Given the description of an element on the screen output the (x, y) to click on. 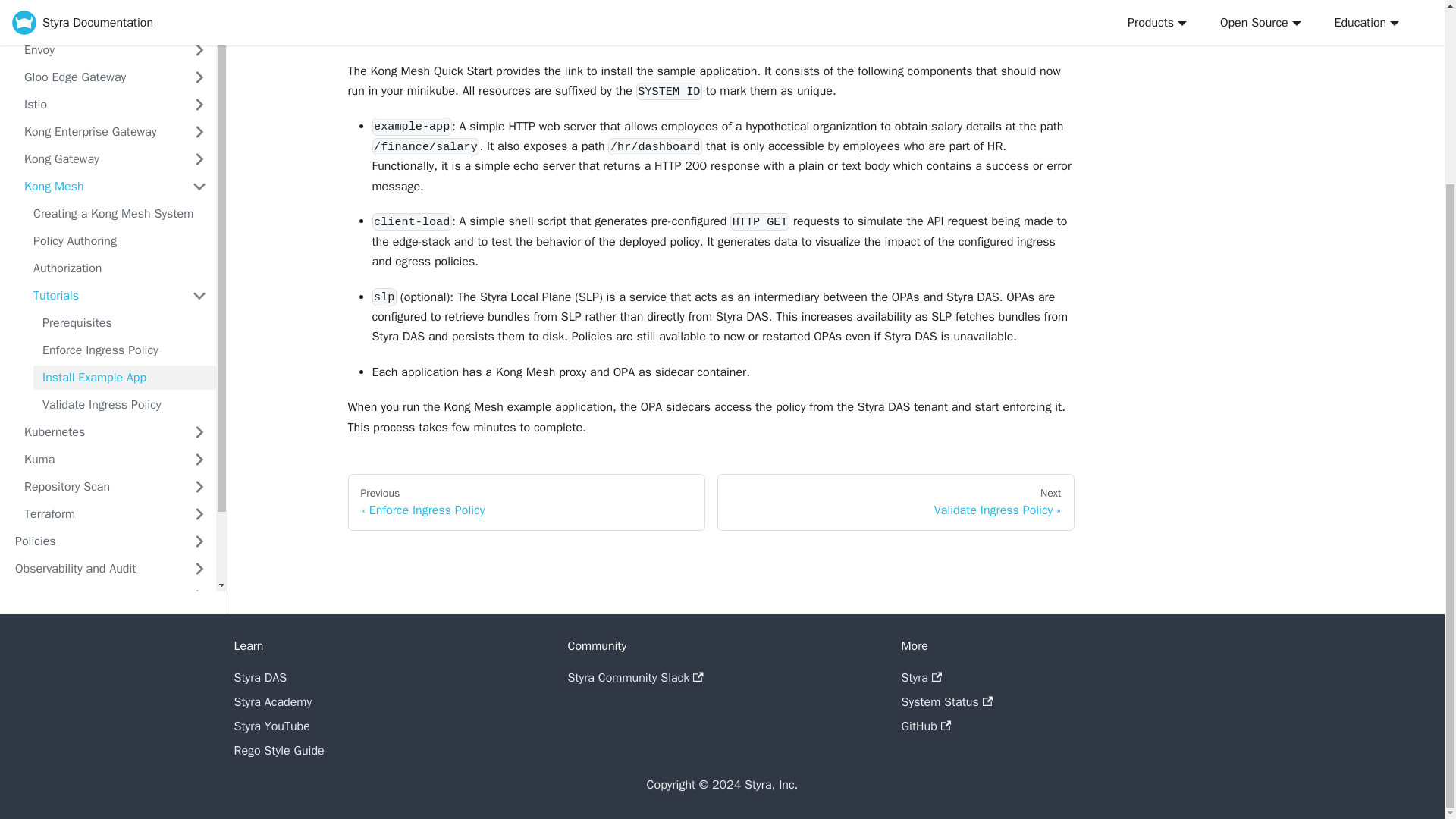
Entitlements (98, 22)
Istio (98, 104)
Envoy (98, 49)
Kong Enterprise Gateway (98, 131)
Gloo Edge Gateway (98, 77)
Emissary-Ingress (98, 3)
